Given the description of an element on the screen output the (x, y) to click on. 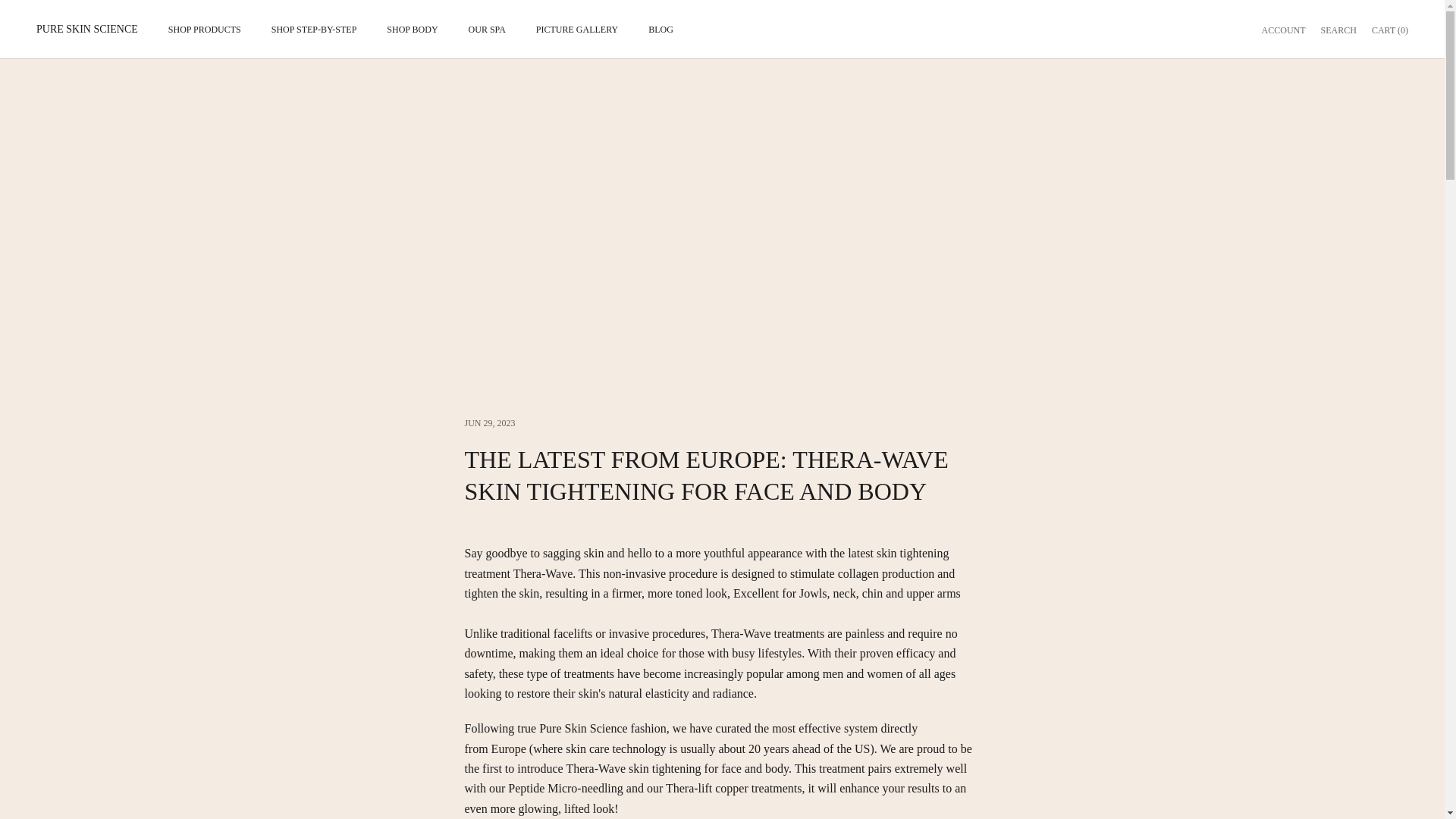
PURE SKIN SCIENCE (87, 29)
PICTURE GALLERY (1284, 29)
SHOP BODY (1338, 29)
SHOP STEP-BY-STEP (576, 29)
BLOG (412, 29)
